Given the description of an element on the screen output the (x, y) to click on. 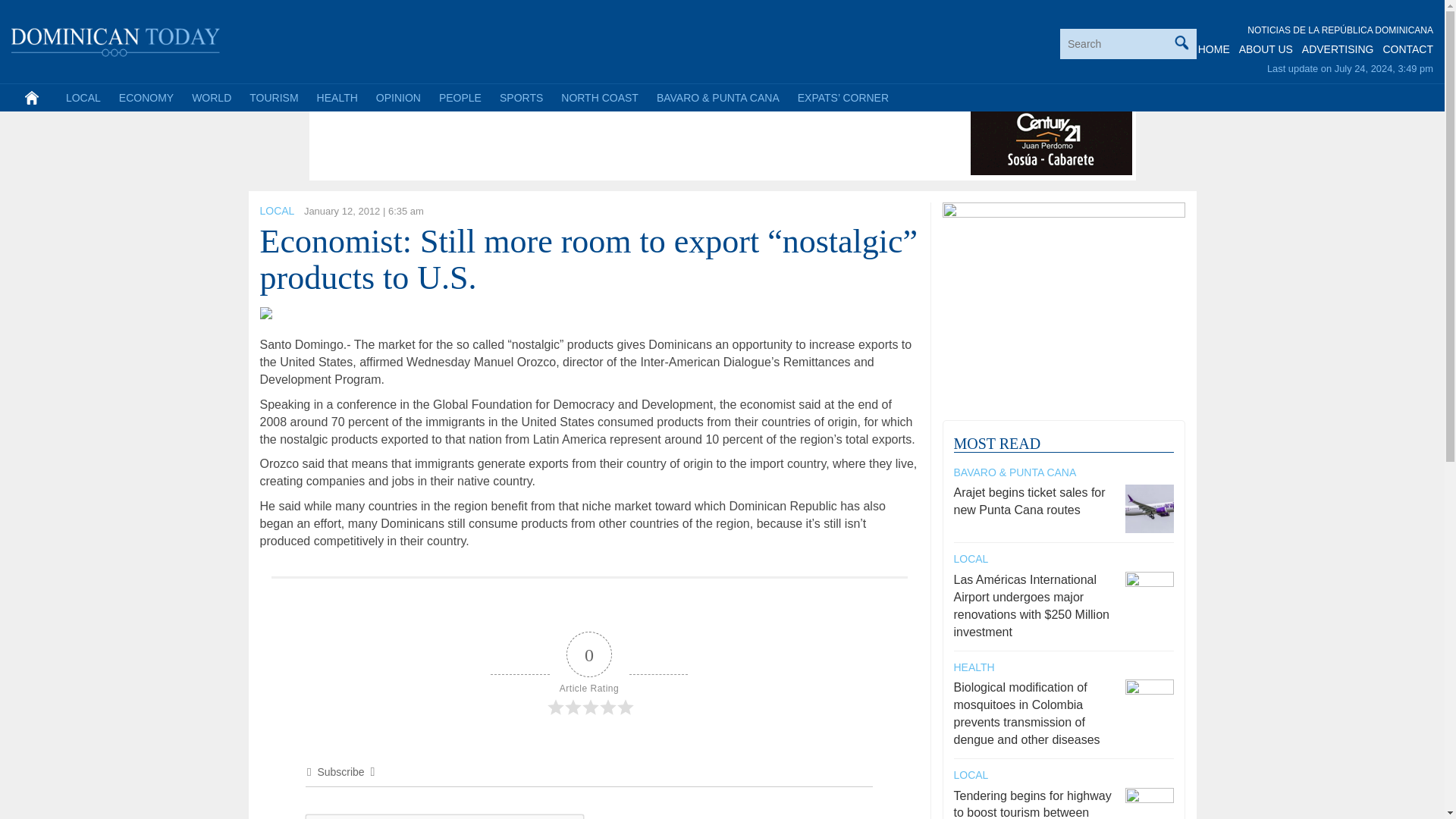
HOME (1214, 49)
CONTACT (1406, 49)
ABOUT US (1265, 49)
HEALTH (336, 97)
WORLD (211, 97)
OPINION (397, 97)
Dominican Today News - Santo Domingo and Dominican Republic (116, 38)
NORTH COAST (599, 97)
ECONOMY (146, 97)
LOCAL (83, 97)
SPORTS (520, 97)
ADVERTISING (1337, 49)
PEOPLE (459, 97)
LOCAL (276, 210)
